Given the description of an element on the screen output the (x, y) to click on. 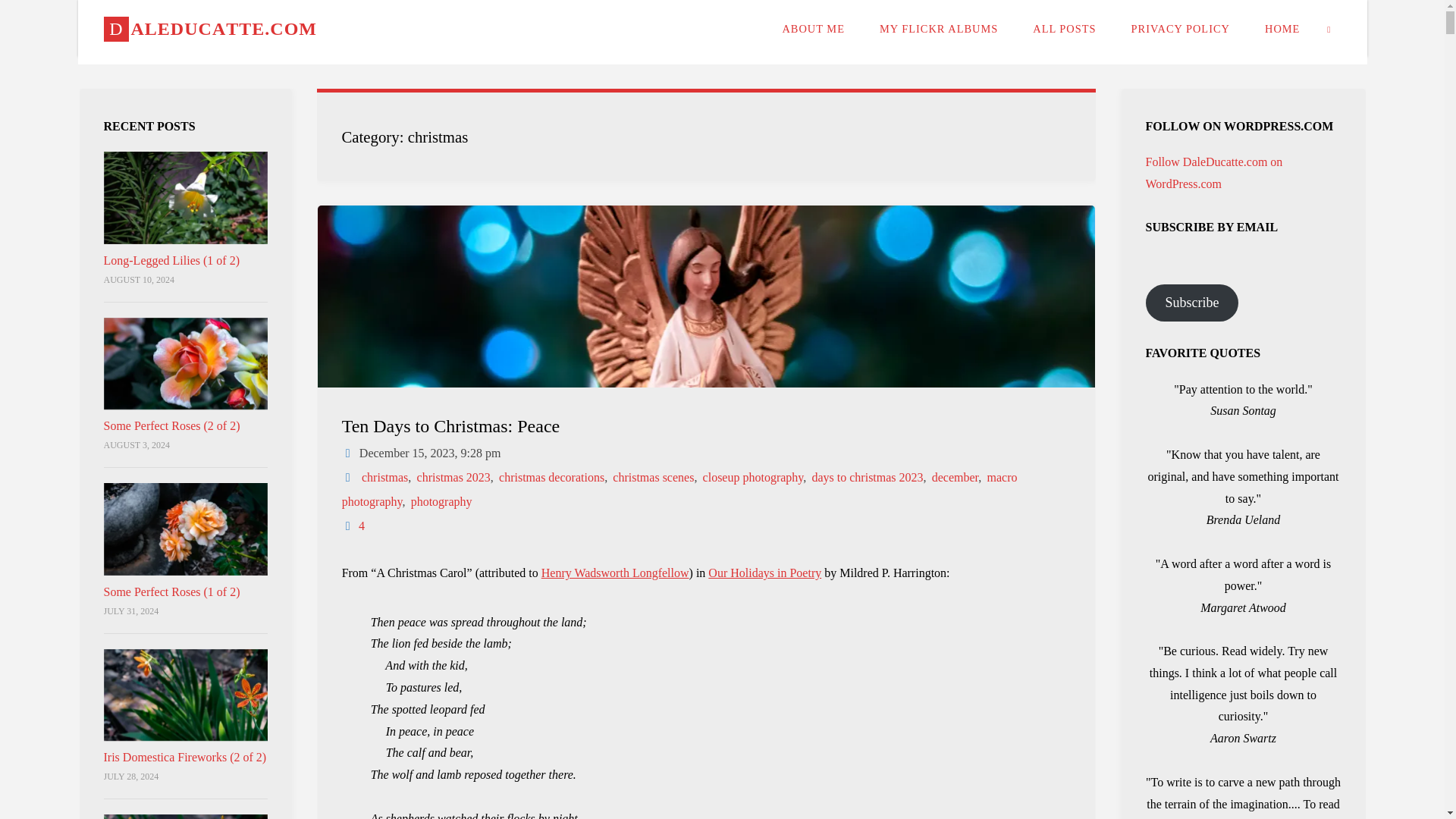
Our Holidays in Poetry (764, 572)
photography (439, 501)
MY FLICKR ALBUMS (937, 28)
ABOUT ME (812, 28)
christmas (384, 477)
Ten Days to Christmas: Peace (451, 426)
Tagged (349, 477)
PRIVACY POLICY (1180, 28)
christmas decorations (550, 477)
christmas scenes (652, 477)
